Given the description of an element on the screen output the (x, y) to click on. 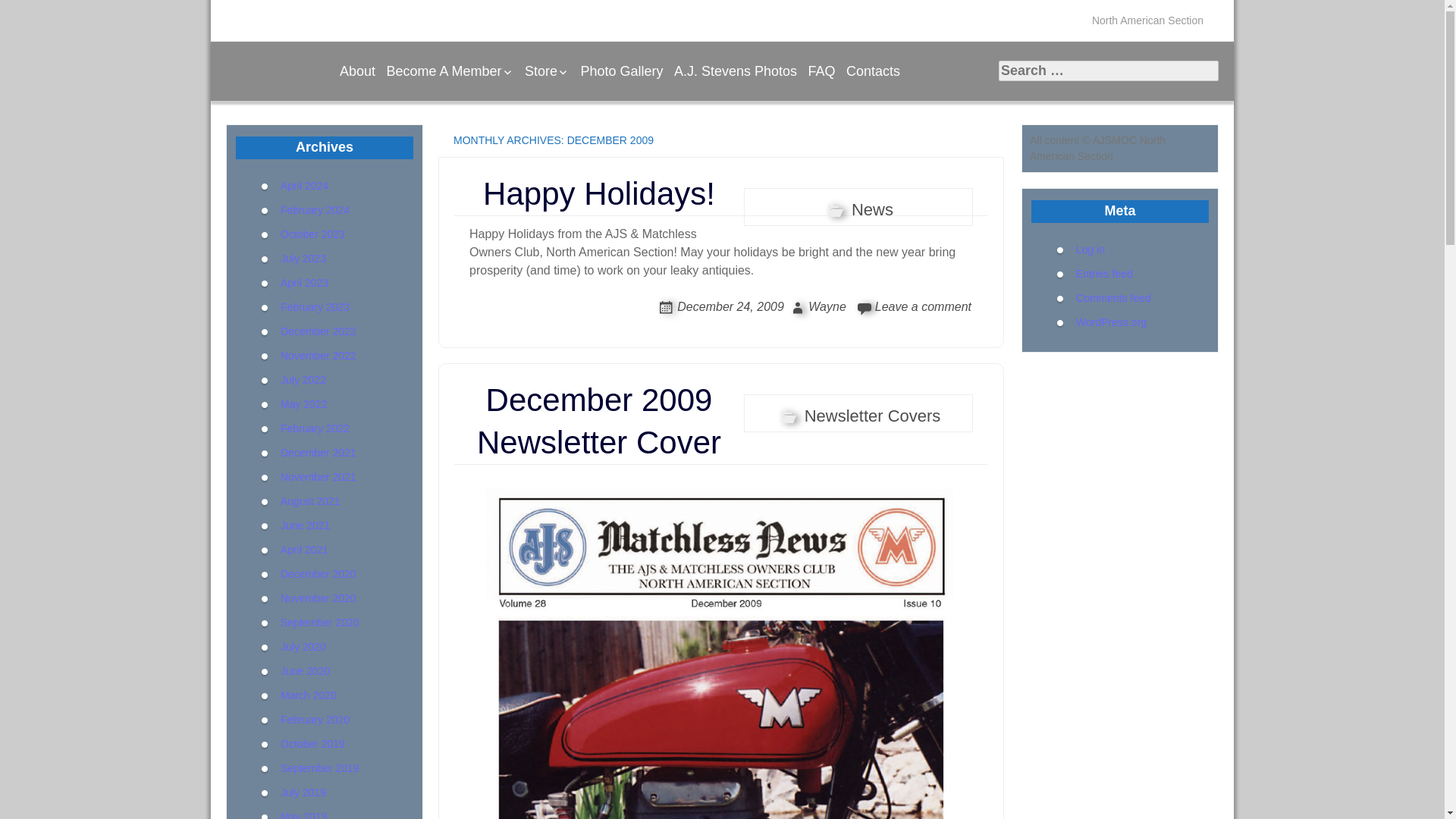
July 2020 (303, 645)
February 2024 (315, 209)
December 2022 (318, 330)
October 2023 (313, 233)
April 2023 (305, 282)
May 2019 (303, 814)
February 2020 (315, 718)
Become A Member (448, 70)
US Membership Form (458, 96)
September 2019 (320, 767)
